Given the description of an element on the screen output the (x, y) to click on. 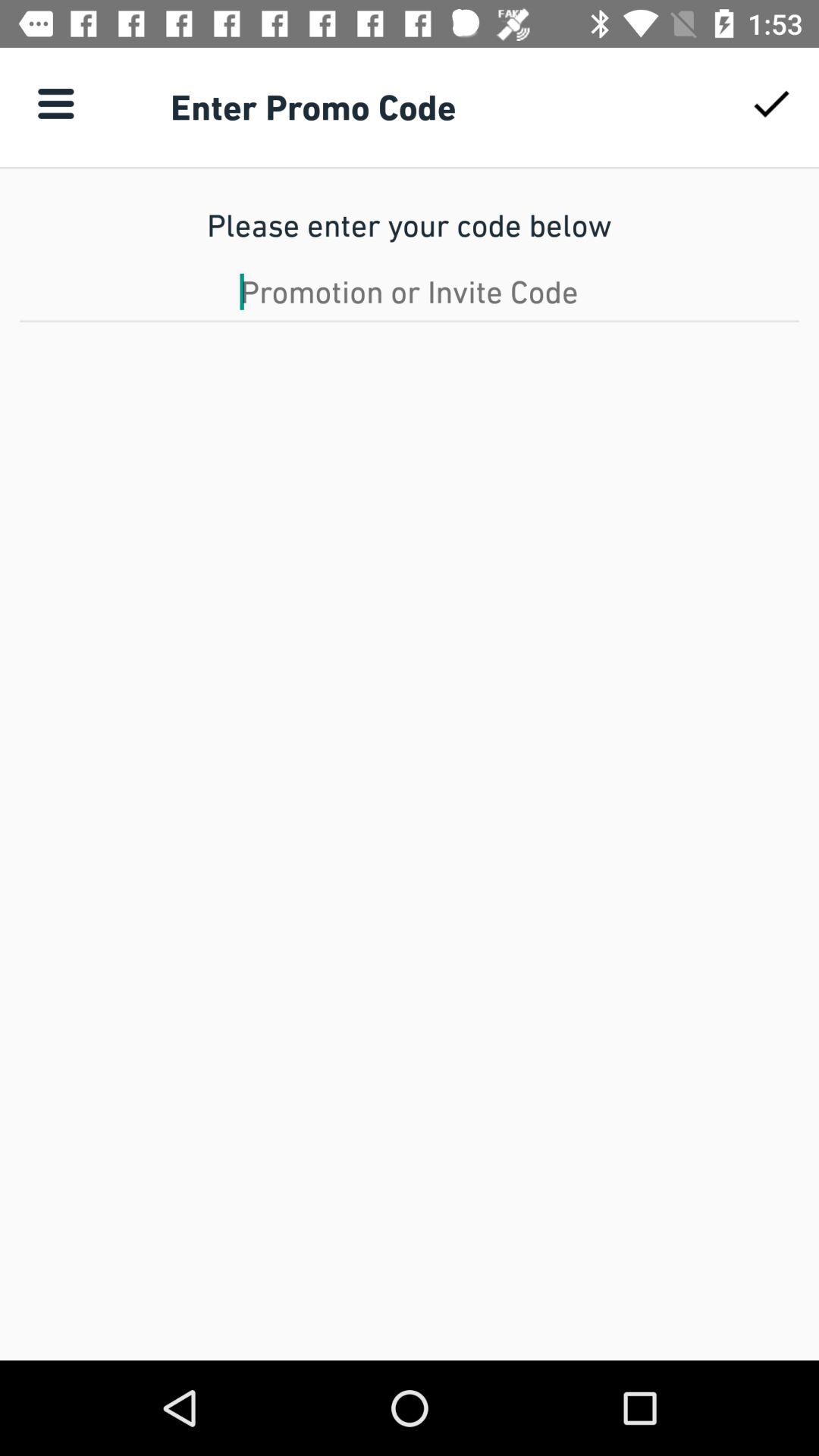
promotion code need (409, 291)
